Given the description of an element on the screen output the (x, y) to click on. 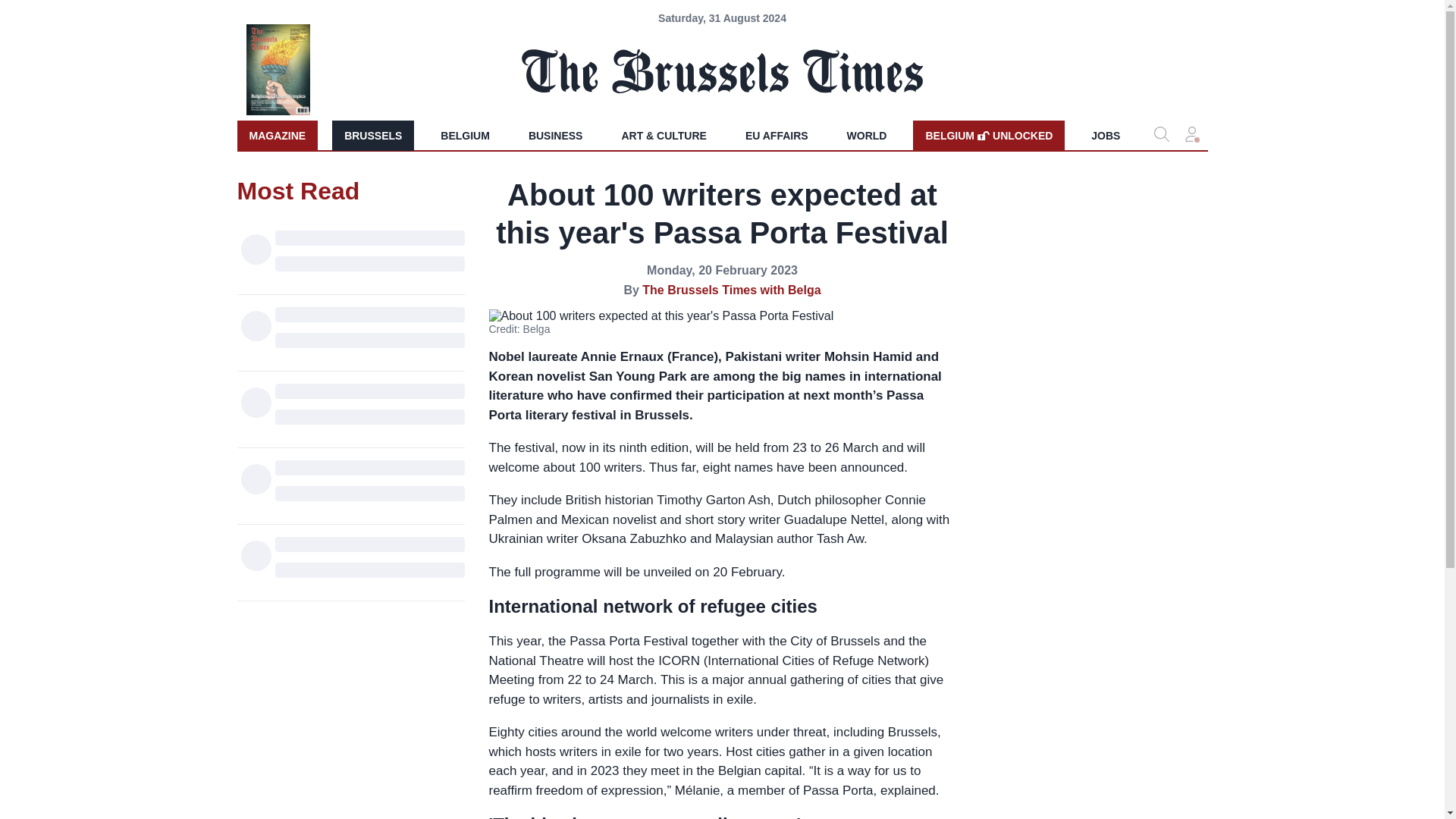
BUSINESS (988, 135)
BELGIUM (555, 135)
BRUSSELS (465, 135)
The Brussels Times with Belga (372, 135)
JOBS (731, 290)
EU AFFAIRS (1105, 135)
WORLD (777, 135)
MAGAZINE (866, 135)
